Given the description of an element on the screen output the (x, y) to click on. 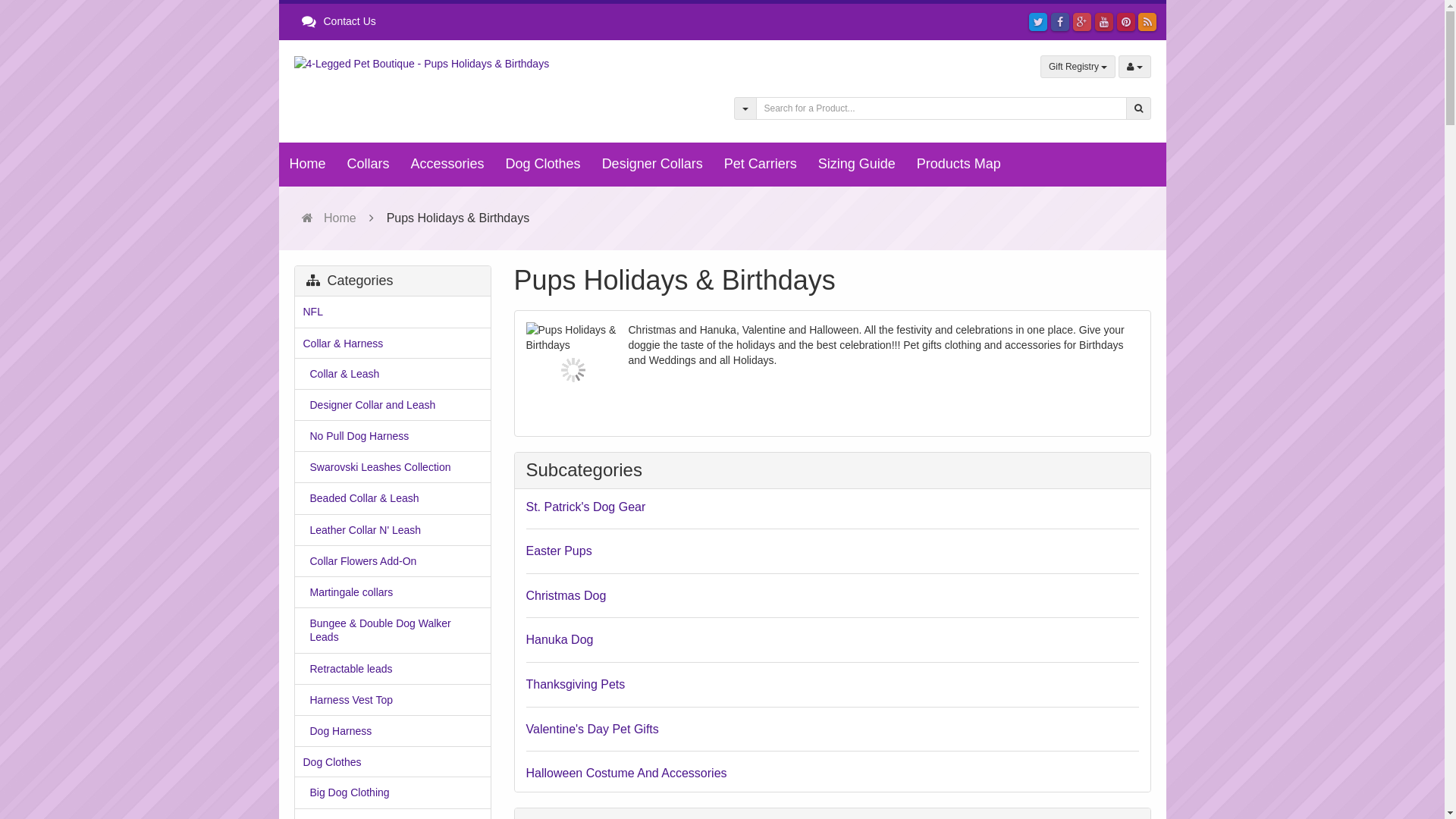
Home Element type: text (307, 164)
Dog Harness Element type: text (391, 730)
Collar & Harness Element type: text (391, 342)
NFL Element type: text (391, 310)
Contact Us Element type: text (338, 21)
Collar Flowers Add-On Element type: text (391, 560)
Swarovski Leashes Collection Element type: text (391, 466)
Designer Collar and Leash Element type: text (391, 404)
Designer Collars Element type: text (652, 164)
Products Map Element type: text (958, 164)
Leather Collar N' Leash Element type: text (391, 529)
Sizing Guide Element type: text (856, 164)
No Pull Dog Harness Element type: text (391, 435)
Retractable leads Element type: text (391, 668)
Pet Carriers Element type: text (760, 164)
Martingale collars Element type: text (391, 591)
Twitter Element type: hover (1037, 21)
Collars Element type: text (368, 164)
Google Plus Element type: hover (1081, 21)
Dog Clothes Element type: text (543, 164)
Beaded Collar & Leash Element type: text (391, 497)
Big Dog Clothing Element type: text (391, 791)
Accessories Element type: text (447, 164)
Harness Vest Top Element type: text (391, 699)
Facebook Element type: hover (1059, 21)
Bungee & Double Dog Walker Leads Element type: text (391, 629)
Gift Registry Element type: text (1077, 66)
Home Element type: text (328, 217)
Products RSS Element type: hover (1146, 21)
Dog Clothes Element type: text (391, 761)
Pinterest Element type: hover (1125, 21)
YouTube Element type: hover (1103, 21)
Collar & Leash Element type: text (391, 373)
